Given the description of an element on the screen output the (x, y) to click on. 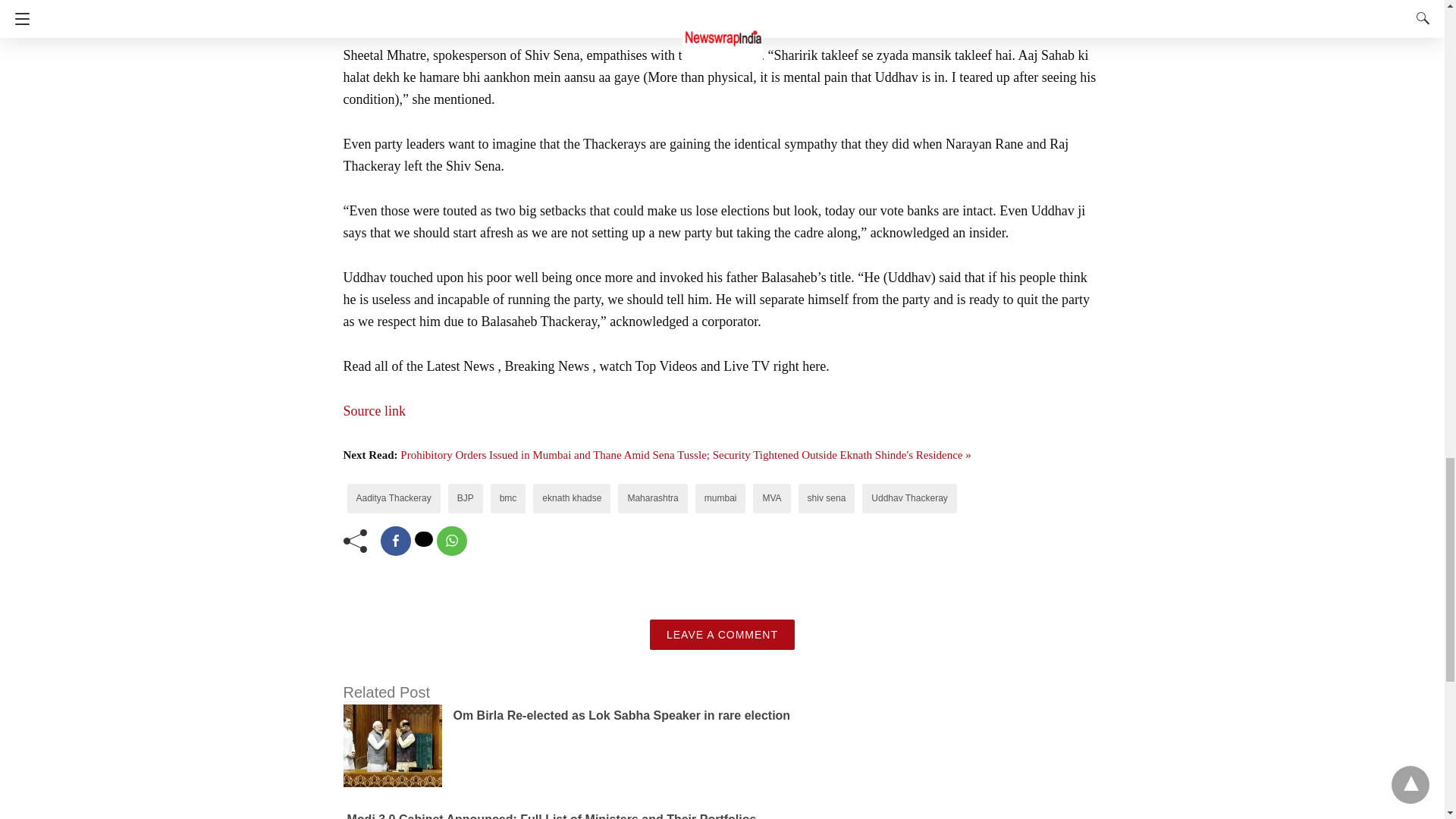
Aaditya Thackeray (393, 498)
whatsapp share (451, 541)
shiv sena (826, 498)
Om Birla Re-elected as Lok Sabha Speaker in rare election (621, 715)
BJP (465, 498)
MVA (770, 498)
mumbai (720, 498)
Uddhav Thackeray (908, 498)
twitter share (423, 539)
Maharashtra (652, 498)
Om Birla Re-elected as Lok Sabha Speaker in rare election (621, 715)
LEAVE A COMMENT (721, 634)
Leave a Comment (721, 634)
